Given the description of an element on the screen output the (x, y) to click on. 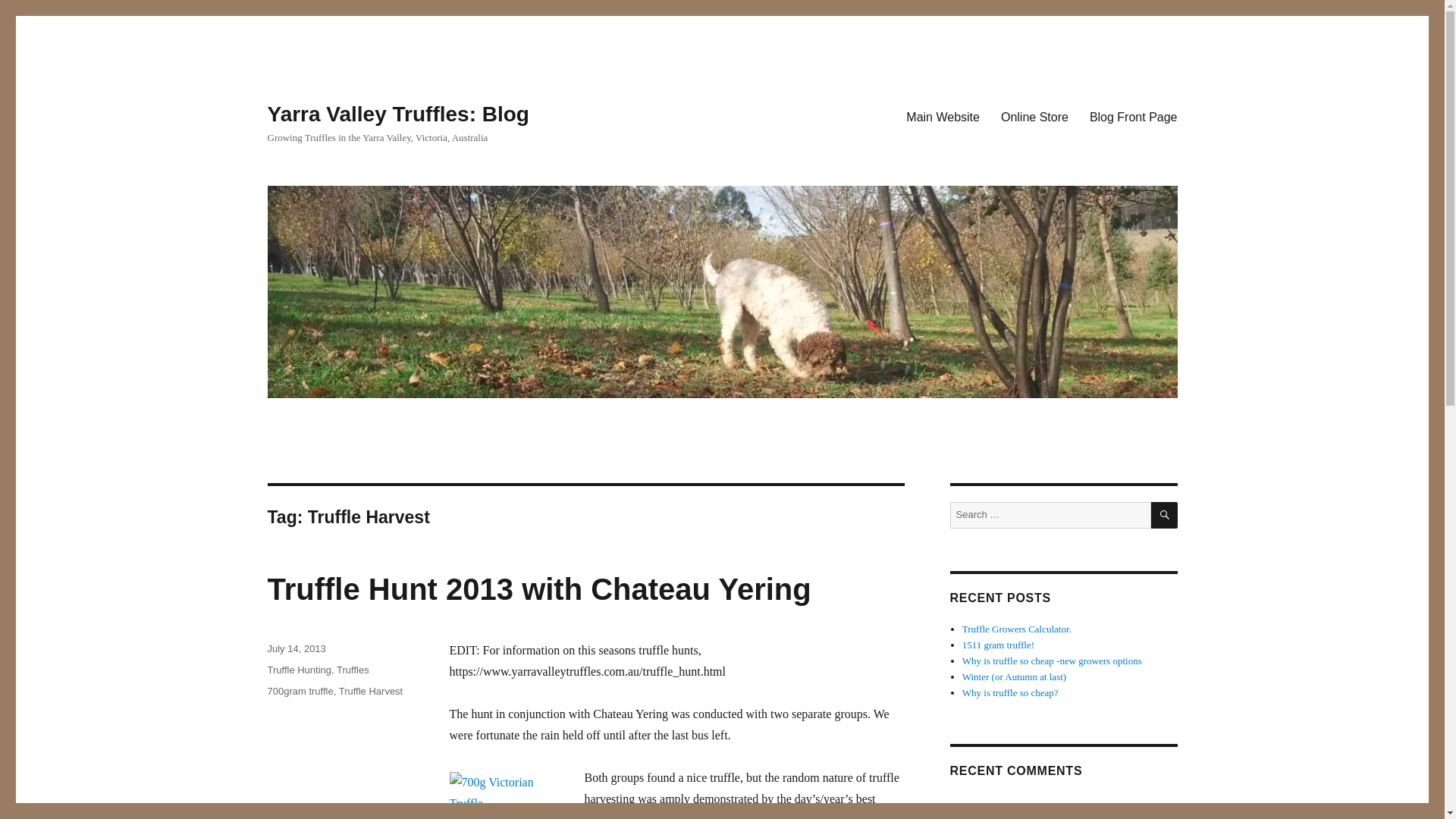
Main Website (942, 116)
July 14, 2013 (295, 648)
Truffle Growers Calculator. (1016, 628)
Truffle Hunt 2013 with Chateau Yering (538, 589)
Blog Front Page (1133, 116)
Why is truffle so cheap? (1010, 692)
Truffle Harvest (371, 690)
Truffles (352, 669)
Truffle Hunting (298, 669)
SEARCH (1164, 515)
